Given the description of an element on the screen output the (x, y) to click on. 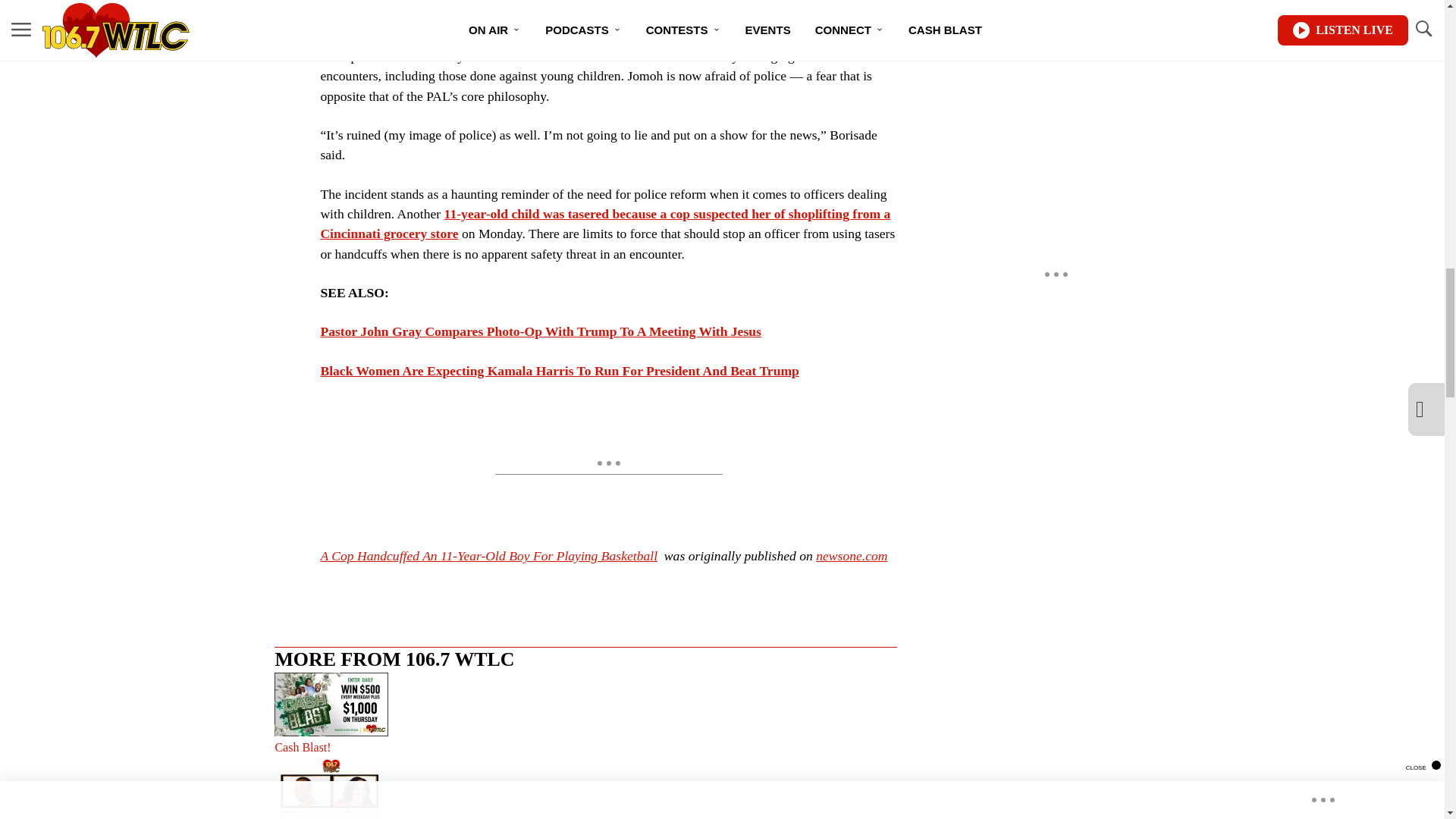
A Cop Handcuffed An 11-Year-Old Boy For Playing Basketball (489, 555)
newsone.com (850, 555)
